Given the description of an element on the screen output the (x, y) to click on. 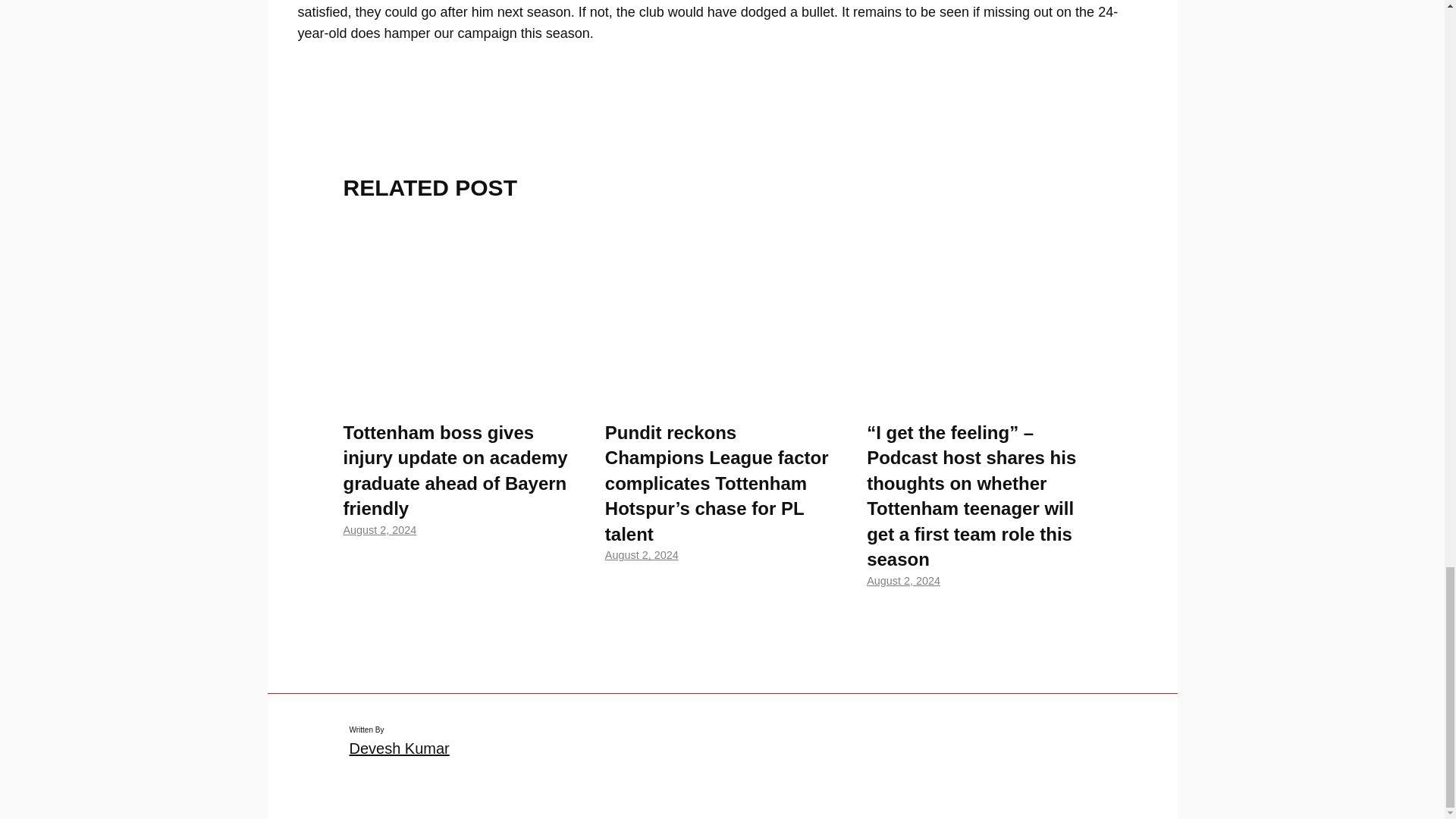
1:00 pm (379, 530)
12:30 am (903, 580)
12:00 pm (641, 554)
